Given the description of an element on the screen output the (x, y) to click on. 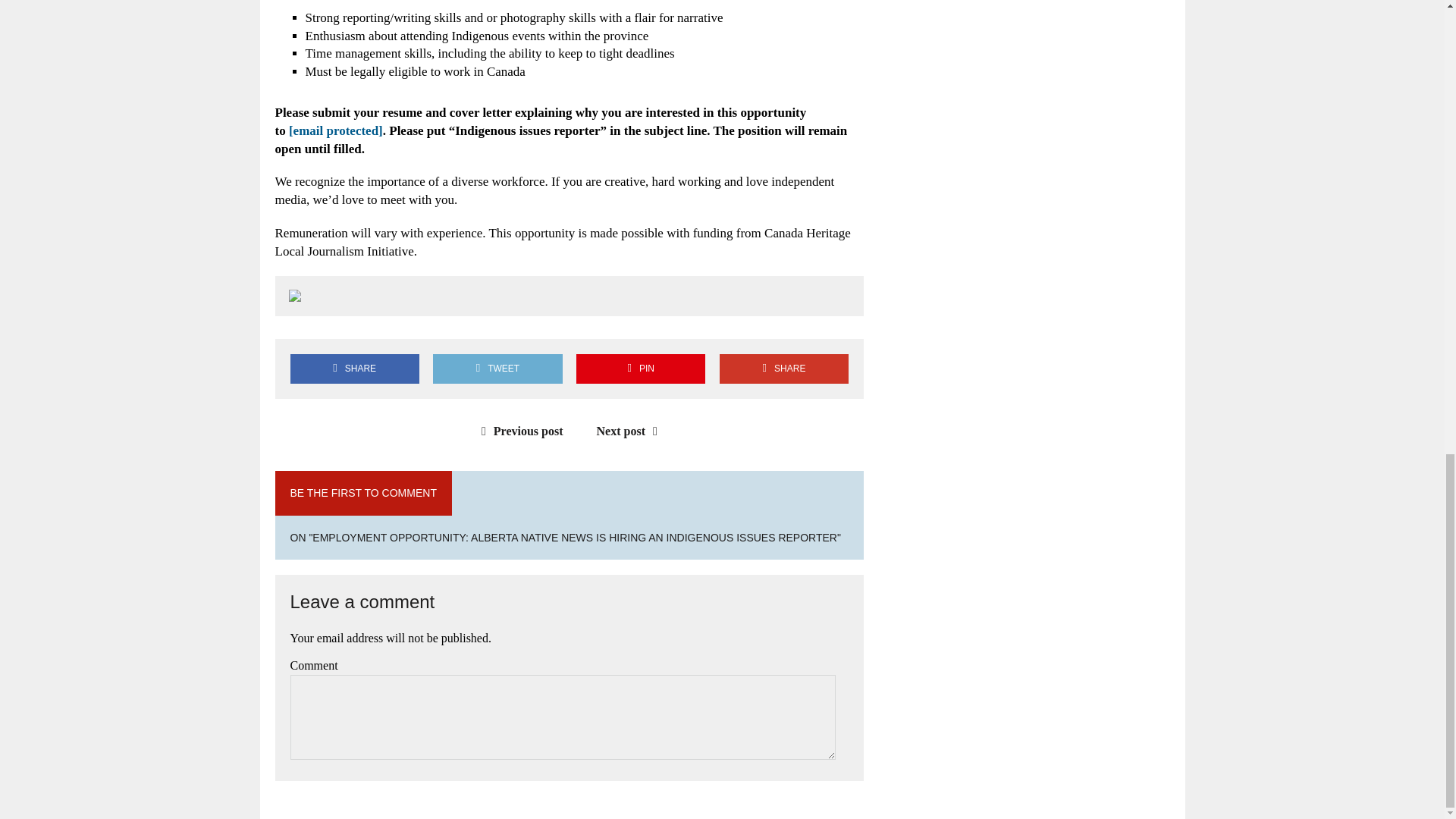
Tweet This Post (497, 368)
Pin This Post (640, 368)
Share on Facebook (354, 368)
